Given the description of an element on the screen output the (x, y) to click on. 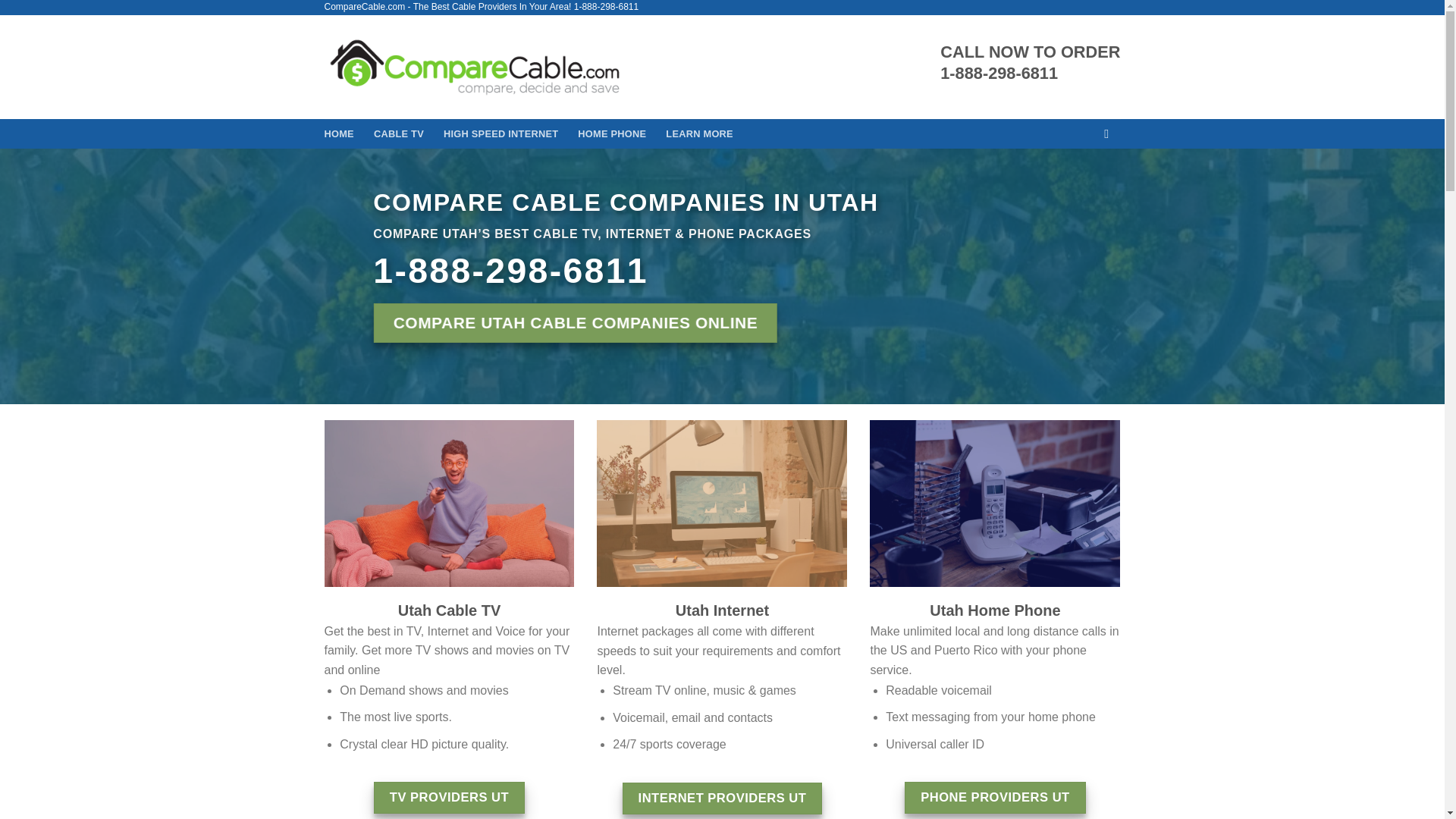
CABLE TV (398, 133)
HOME PHONE (612, 133)
HOME (338, 133)
Follow on Facebook (1109, 133)
TV PROVIDERS UT (449, 798)
PHONE PROVIDERS UT (994, 798)
INTERNET PROVIDERS UT (722, 798)
CompareCable.com - Compare Cable TV Providers In My Area (475, 66)
HIGH SPEED INTERNET (500, 133)
LEARN MORE (699, 133)
COMPARE UTAH CABLE COMPANIES ONLINE (574, 323)
